Given the description of an element on the screen output the (x, y) to click on. 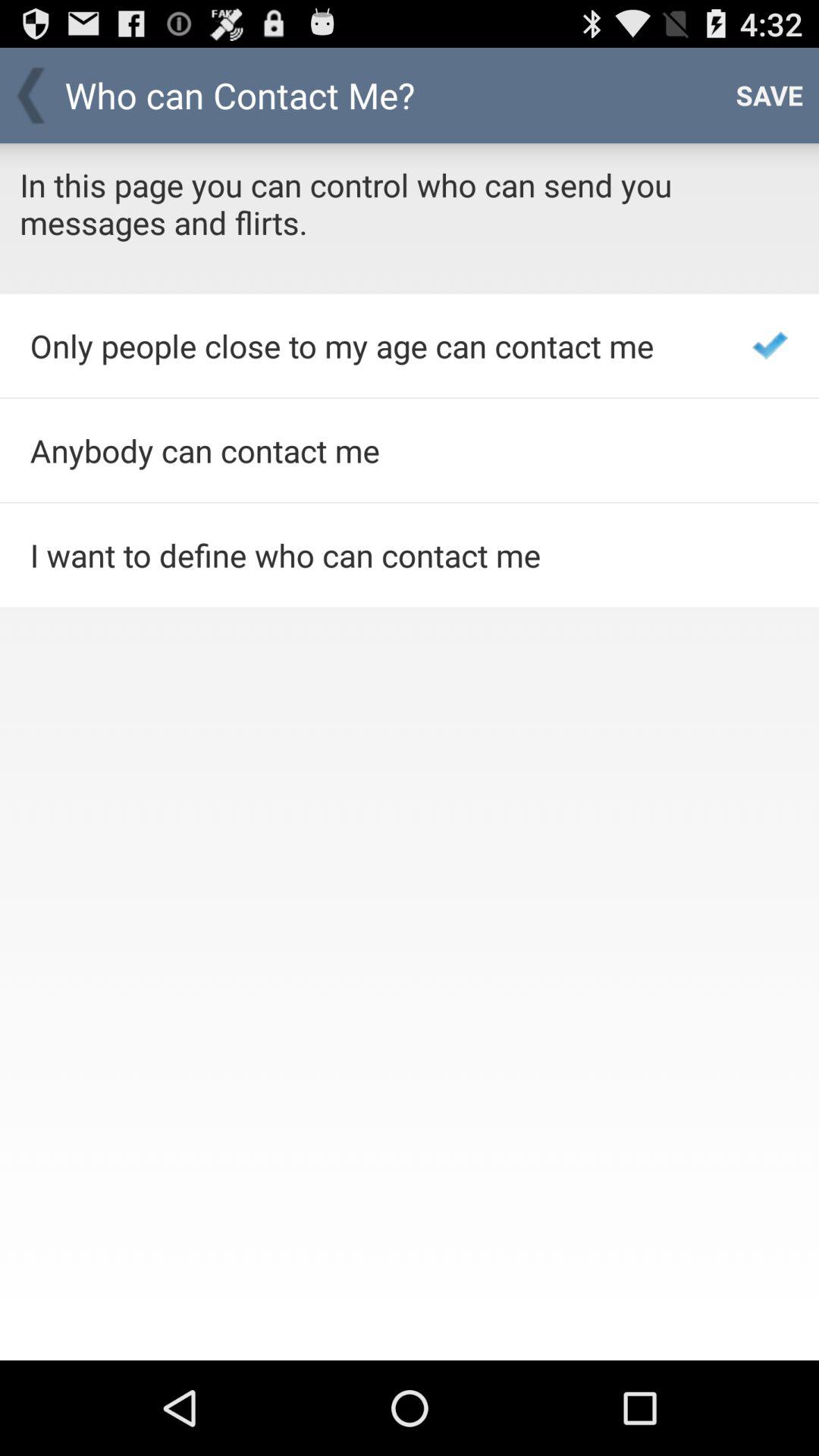
choose icon next to only people close icon (769, 345)
